Given the description of an element on the screen output the (x, y) to click on. 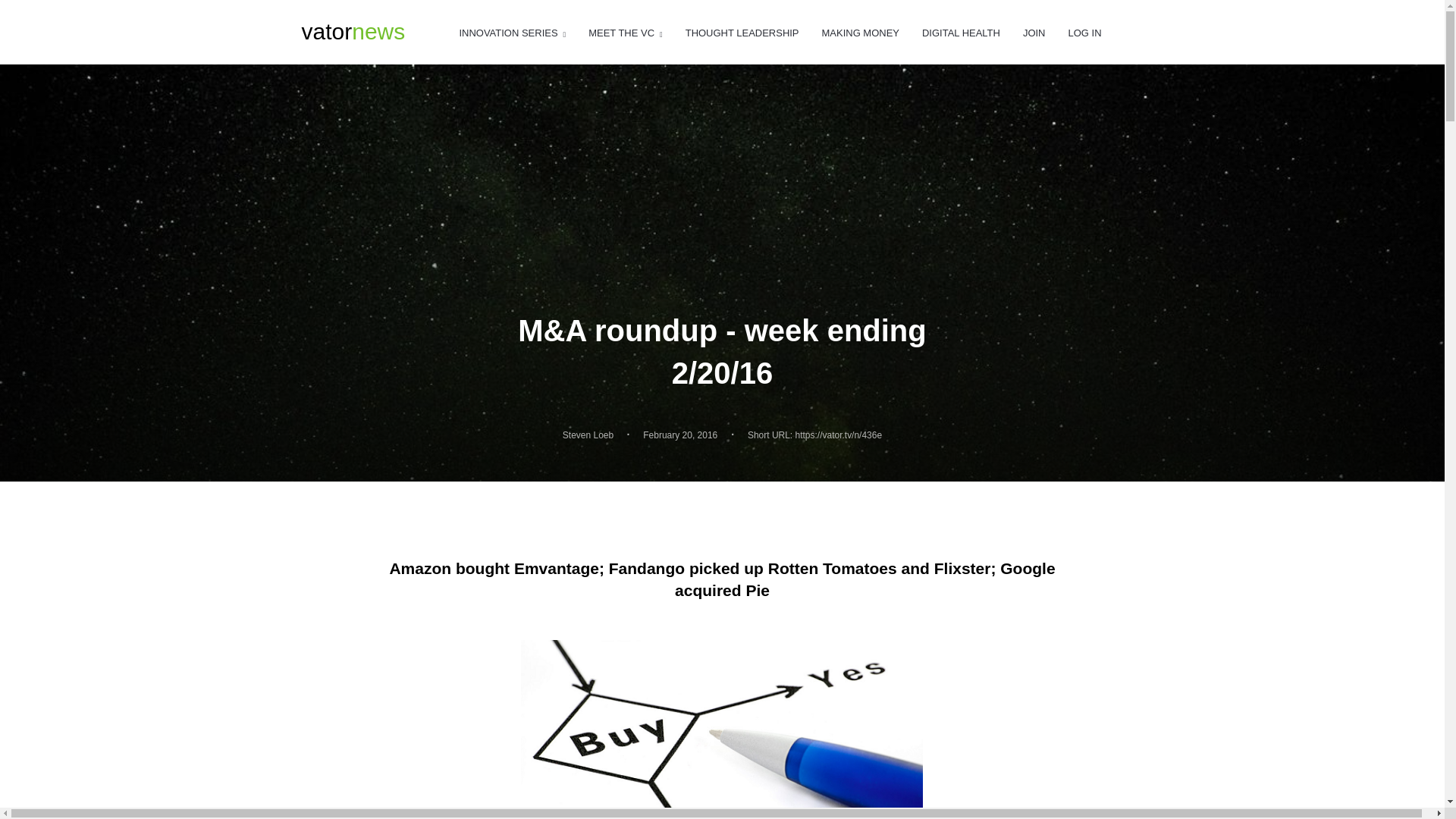
THOUGHT LEADERSHIP (353, 32)
MAKING MONEY (742, 33)
INNOVATION SERIES (860, 33)
LOG IN (512, 33)
DIGITAL HEALTH (1083, 33)
Steven Loeb (960, 33)
MEET THE VC (587, 434)
